Given the description of an element on the screen output the (x, y) to click on. 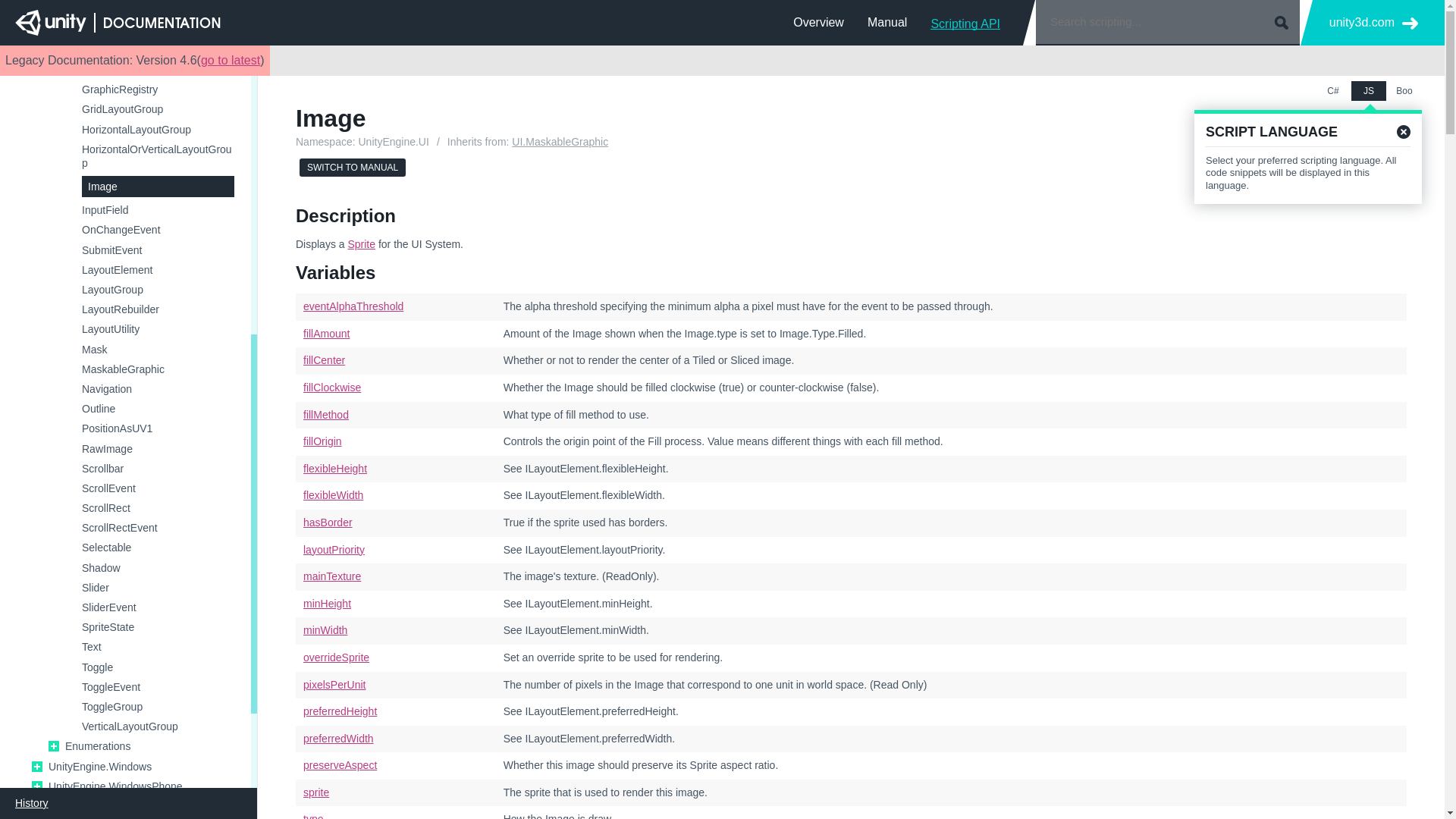
unity3d.com (1373, 22)
Scripting API (965, 22)
go to latest (230, 60)
Manual (887, 22)
Overview (818, 22)
